Given the description of an element on the screen output the (x, y) to click on. 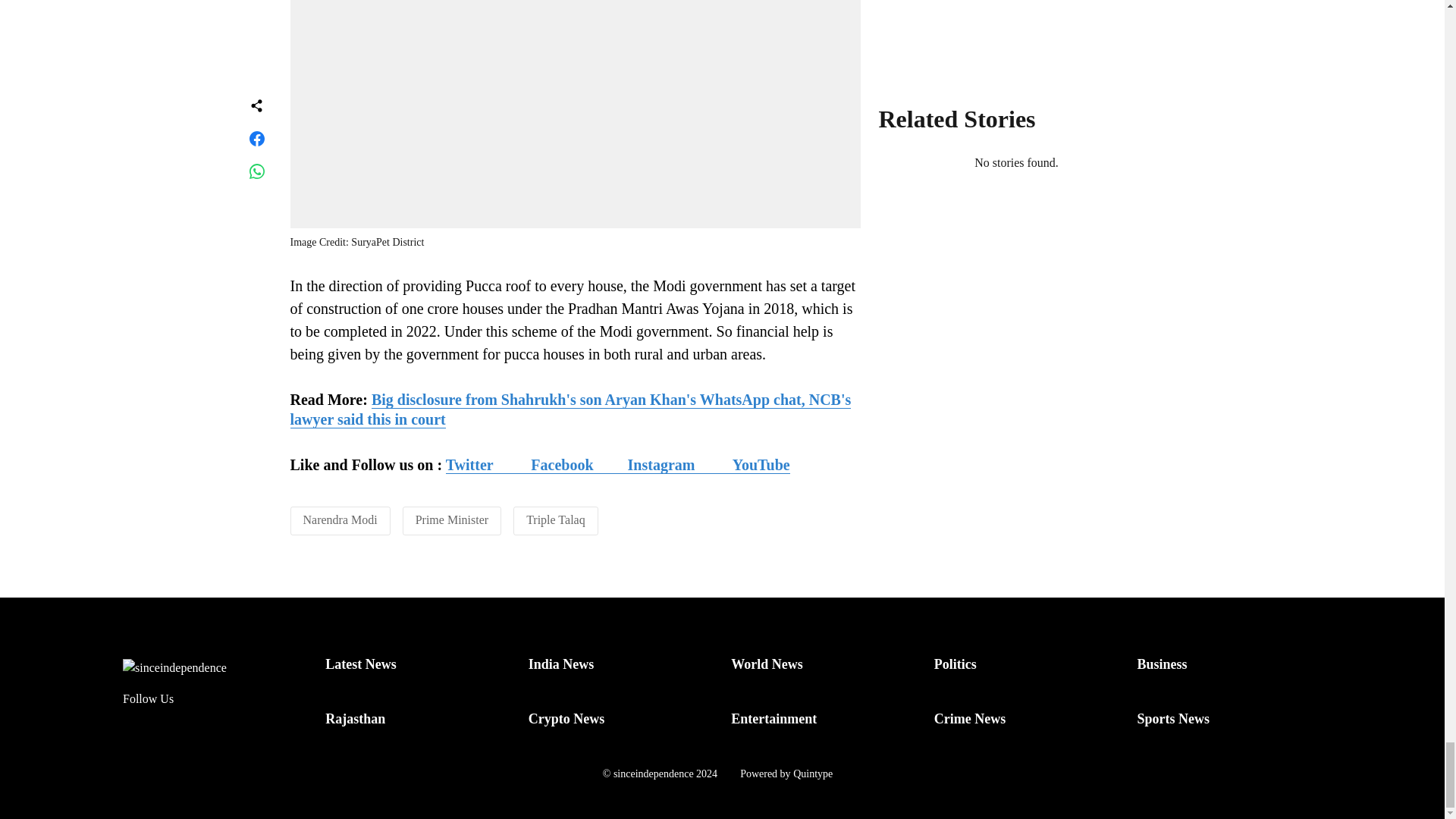
Facebook (561, 465)
Latest News (360, 663)
YouTube (761, 465)
India News (561, 663)
Instagram           (679, 465)
World News (766, 663)
Twitter           (488, 465)
Narendra Modi (339, 519)
Triple Talaq (555, 519)
Prime Minister (450, 519)
Politics (955, 663)
